Given the description of an element on the screen output the (x, y) to click on. 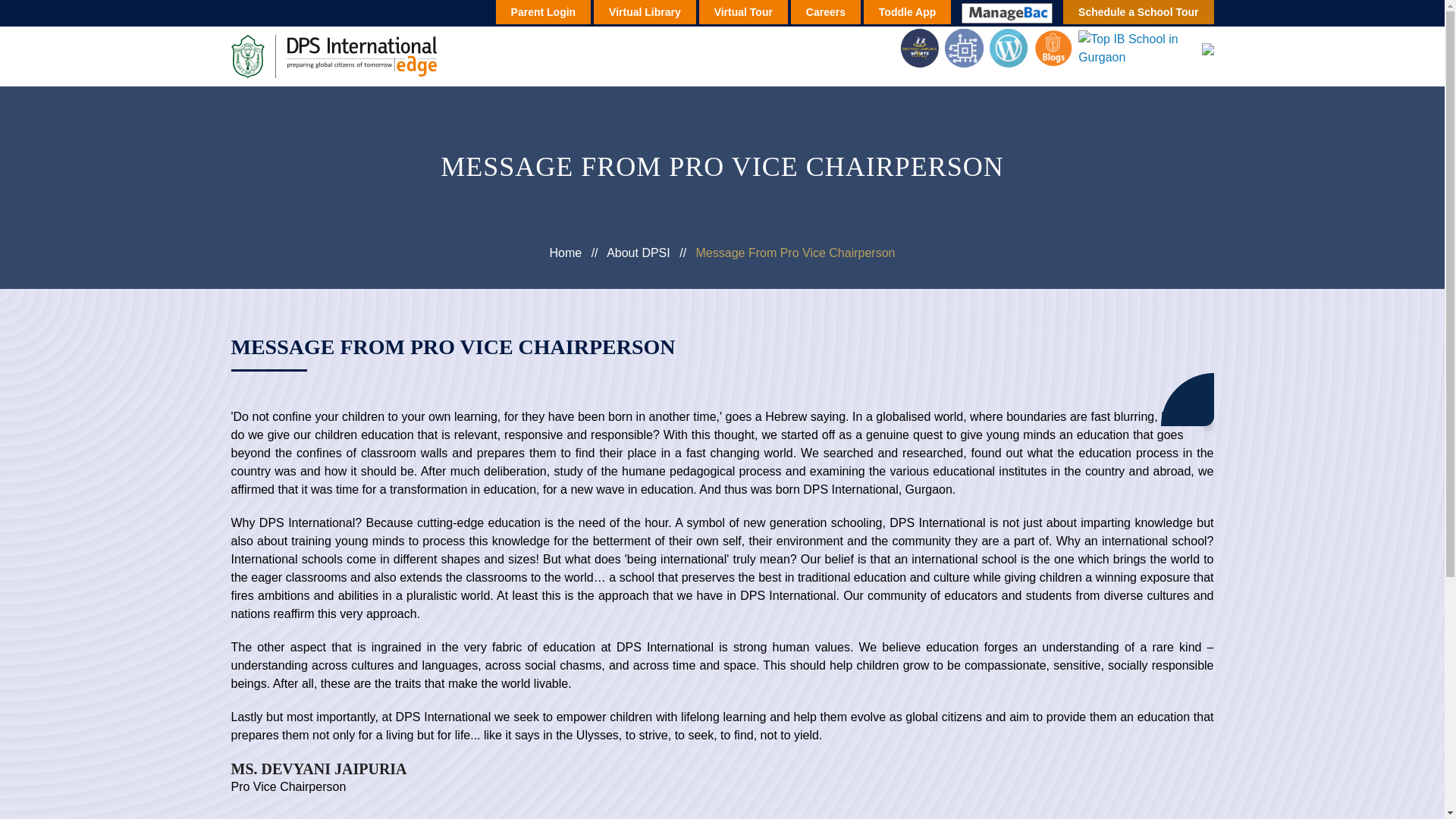
Tech Dawn- DPSI Technology Newsletter (961, 47)
Schedule a School Tour (1137, 12)
Parent Login (543, 12)
Virtual Tour (742, 12)
DPSI Library (1006, 47)
Virtual Library (644, 12)
Blogs (1050, 47)
Toddle App (906, 12)
Careers (825, 12)
